Given the description of an element on the screen output the (x, y) to click on. 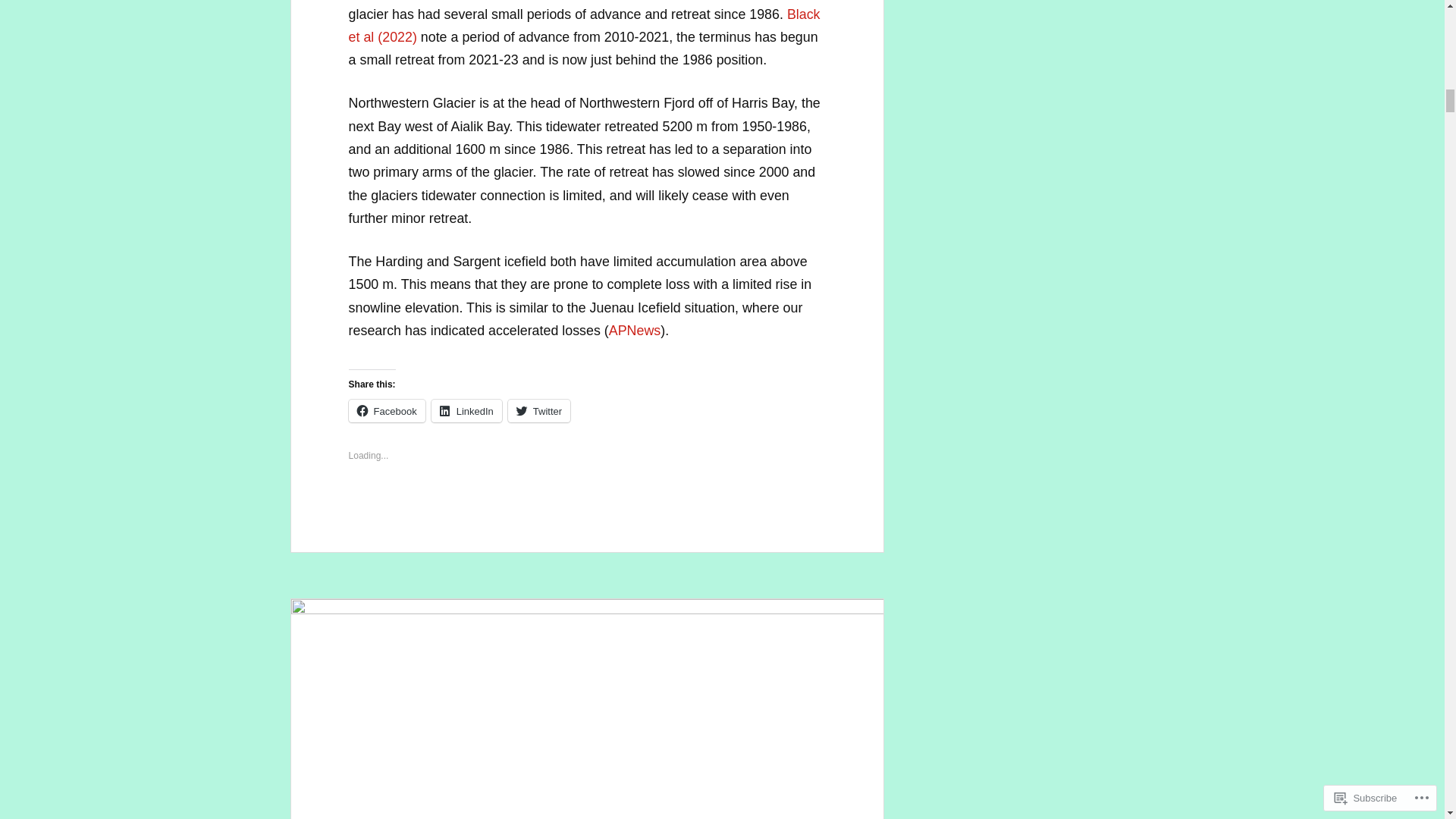
Click to share on Facebook (387, 410)
APNews (634, 330)
LinkedIn (466, 410)
Click to share on Twitter (539, 410)
Click to share on LinkedIn (466, 410)
Facebook (387, 410)
Twitter (539, 410)
